Given the description of an element on the screen output the (x, y) to click on. 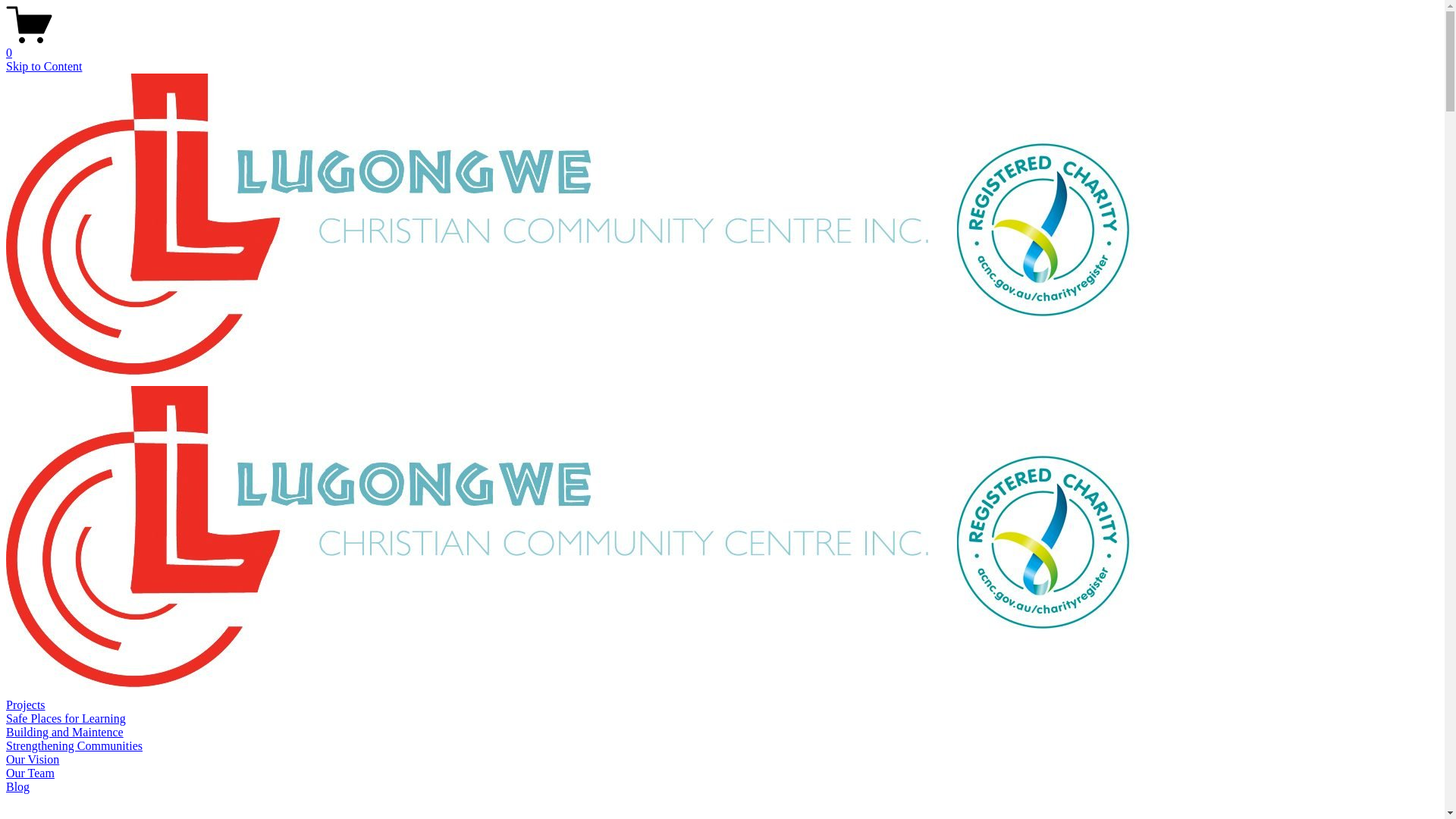
0 Element type: text (722, 45)
Our Team Element type: text (30, 772)
Strengthening Communities Element type: text (74, 745)
Building and Maintence Element type: text (64, 731)
Blog Element type: text (17, 786)
Projects Element type: text (25, 704)
Skip to Content Element type: text (43, 65)
Our Vision Element type: text (32, 759)
Safe Places for Learning Element type: text (65, 718)
